Given the description of an element on the screen output the (x, y) to click on. 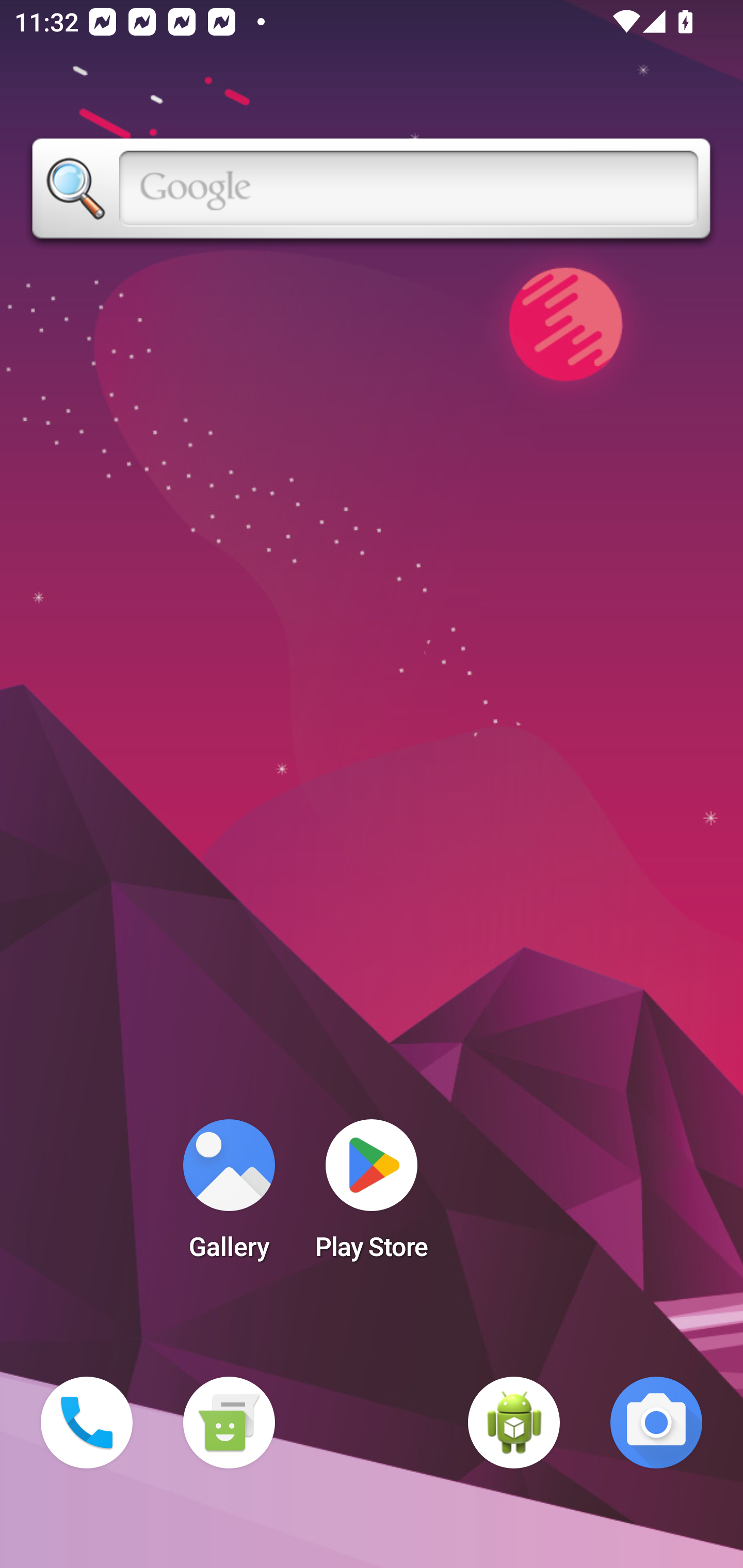
Gallery (228, 1195)
Play Store (371, 1195)
Phone (86, 1422)
Messaging (228, 1422)
WebView Browser Tester (513, 1422)
Camera (656, 1422)
